Given the description of an element on the screen output the (x, y) to click on. 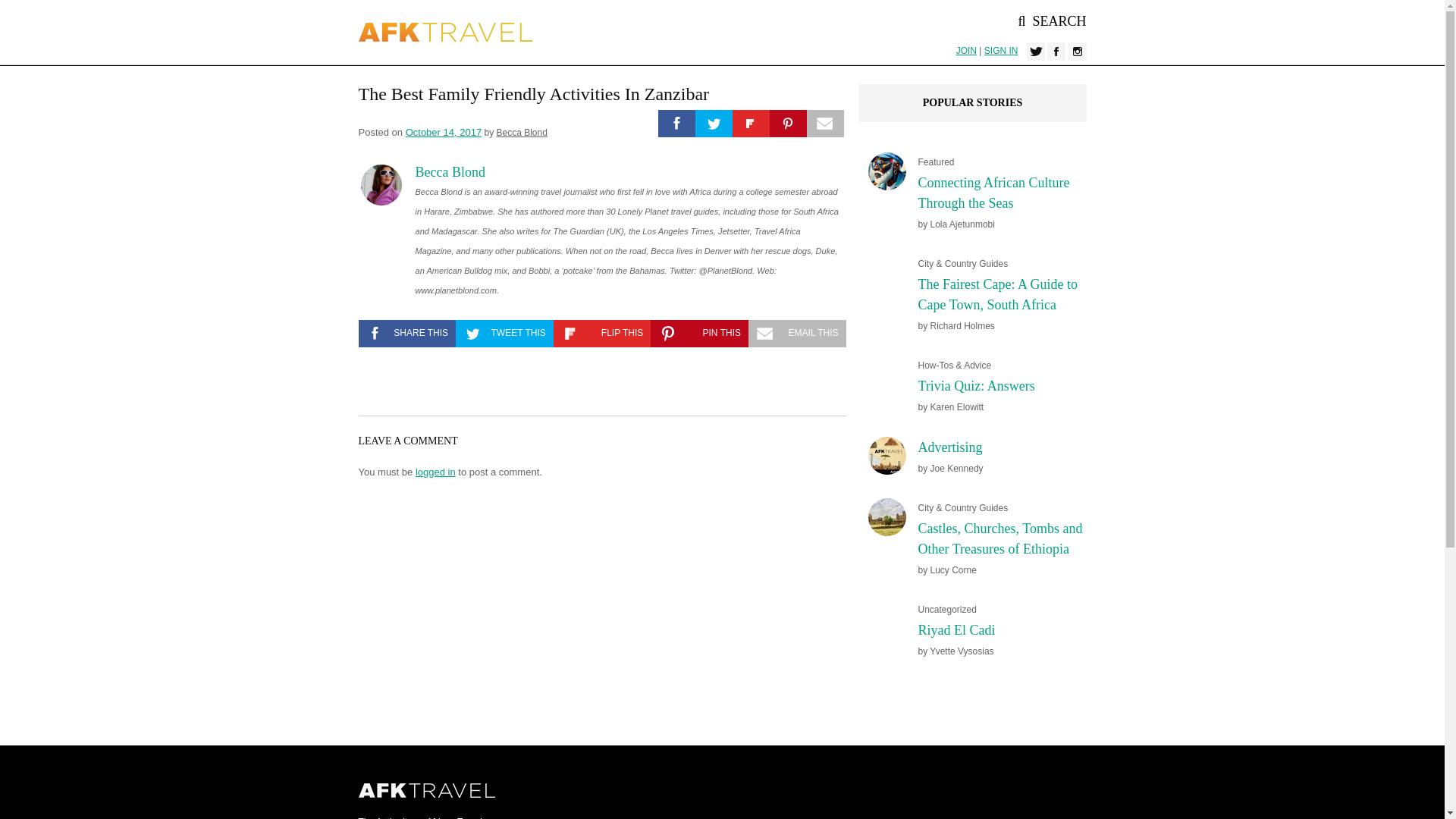
Trivia Quiz: Answers (975, 385)
AFKTravel (445, 31)
logged in (434, 471)
Connecting African Culture Through the Seas (992, 193)
Becca Blond (521, 132)
October 14, 2017 (443, 132)
Becca Blond (449, 172)
Advertising (949, 447)
The Fairest Cape: A Guide to Cape Town, South Africa (997, 294)
